Given the description of an element on the screen output the (x, y) to click on. 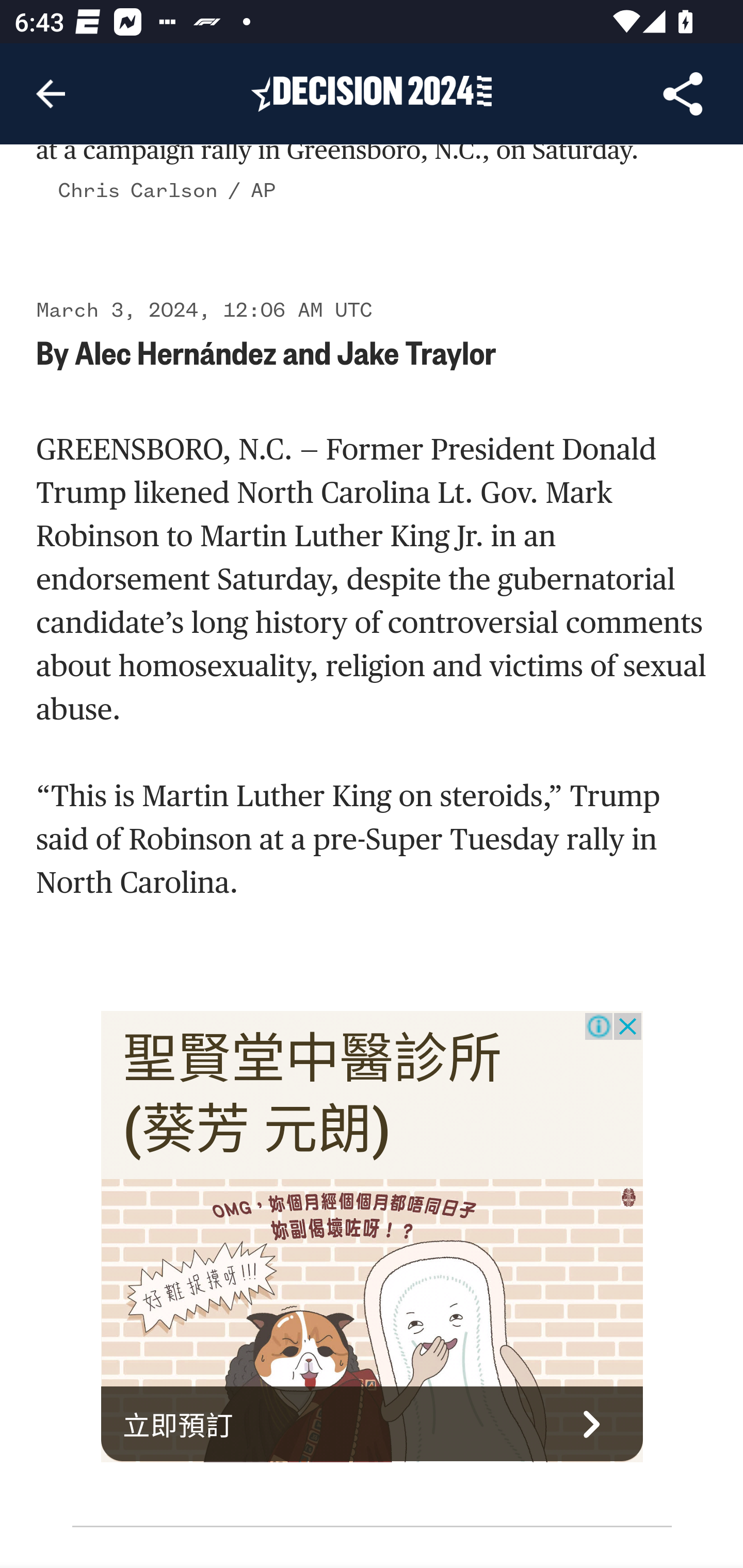
Navigate up (50, 93)
Share Article, button (683, 94)
Header, Decision 2024 (371, 93)
聖賢堂中醫診所 (葵芳 元朗) 聖賢堂中醫診所 (葵芳 元朗) (312, 1095)
立即預訂 (372, 1425)
